Given the description of an element on the screen output the (x, y) to click on. 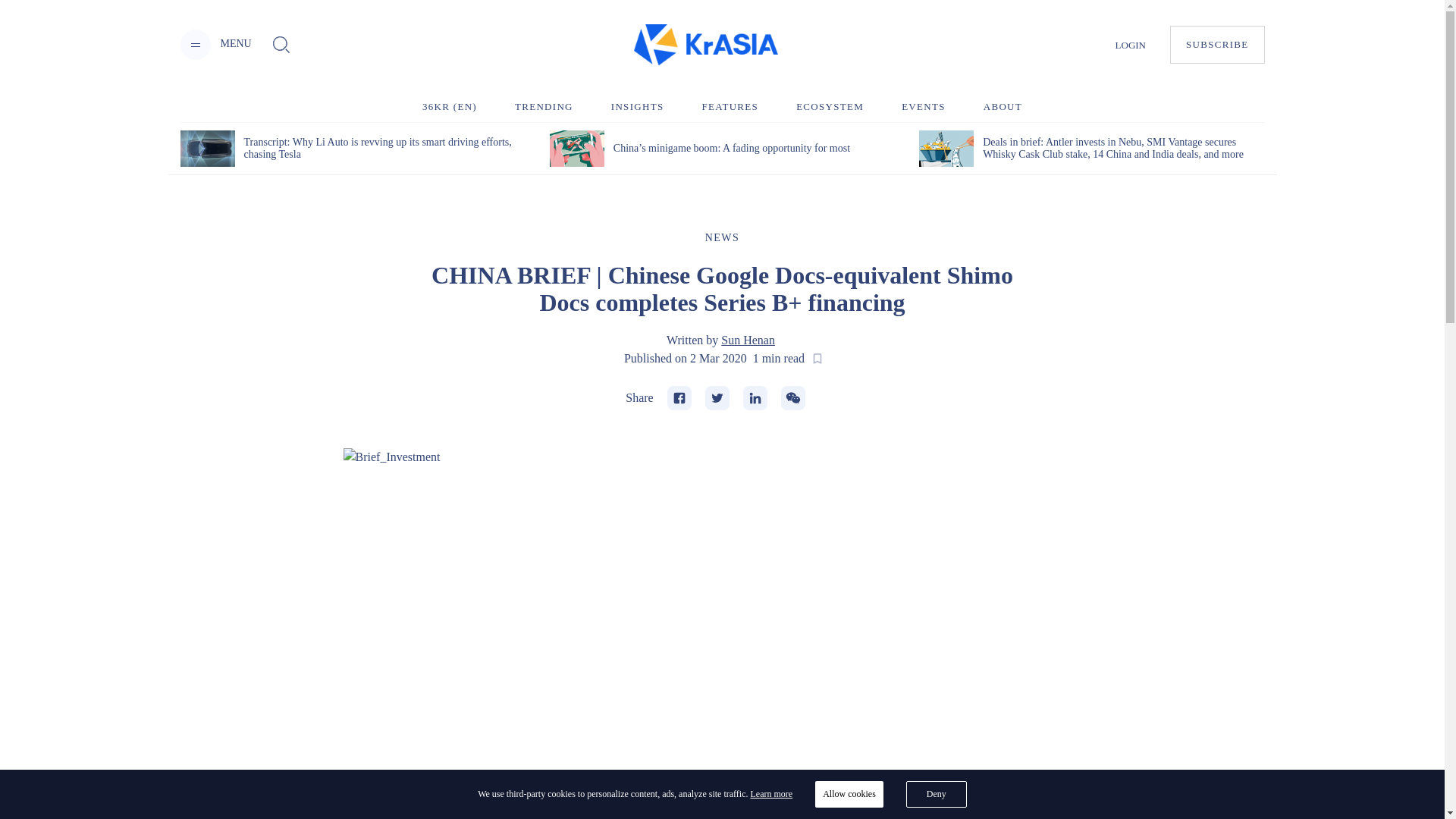
FEATURES (729, 106)
SUBSCRIBE (1217, 44)
NEWS (721, 237)
ABOUT (1003, 106)
INSIGHTS (637, 106)
EVENTS (922, 106)
TRENDING (544, 106)
LOGIN (1130, 44)
